Given the description of an element on the screen output the (x, y) to click on. 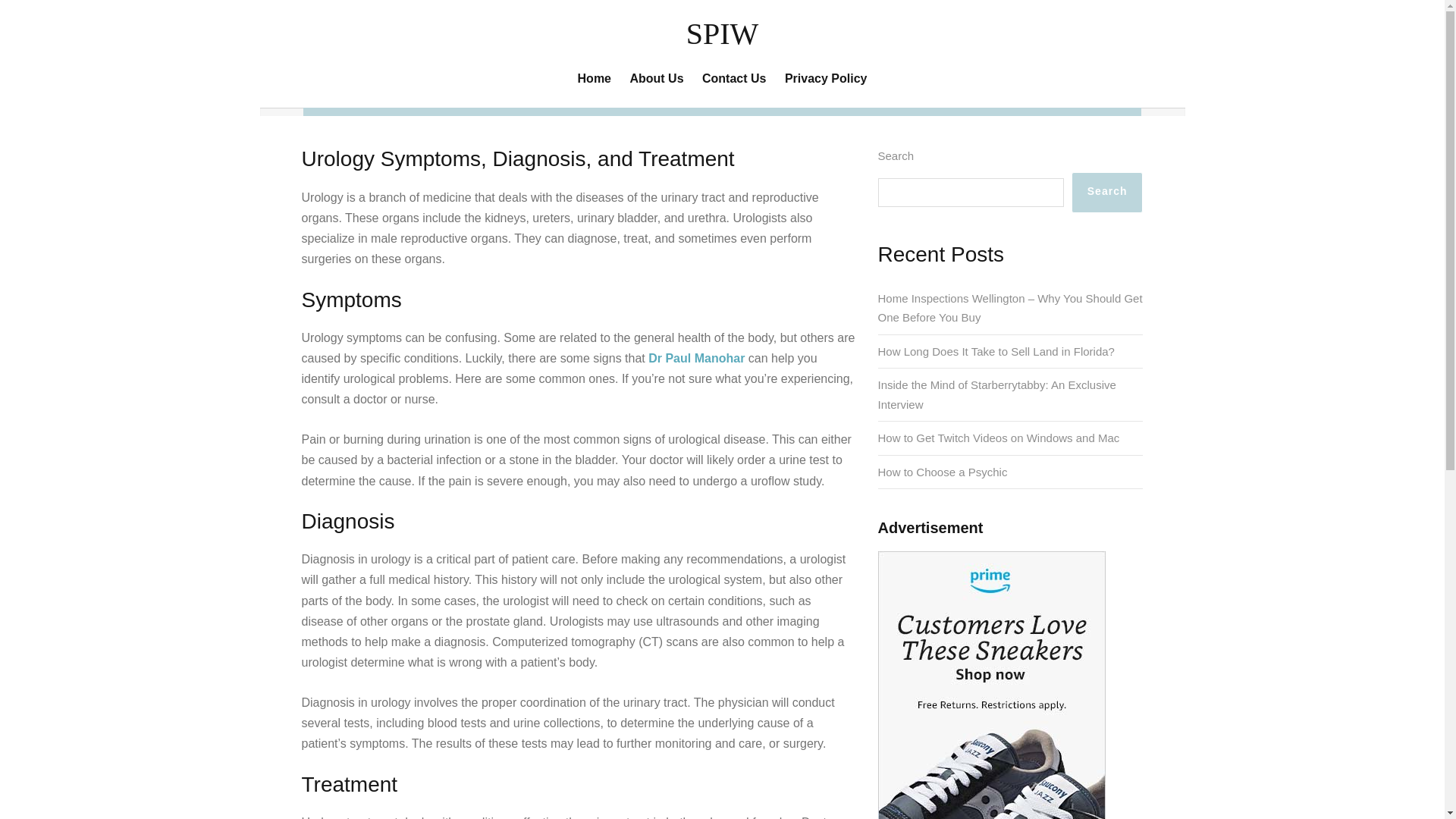
Dr Paul Manohar (695, 358)
How to Choose a Psychic (942, 472)
SPIW (721, 33)
How to Get Twitch Videos on Windows and Mac (998, 437)
How Long Does It Take to Sell Land in Florida? (996, 350)
Inside the Mind of Starberrytabby: An Exclusive Interview (996, 394)
About Us (656, 78)
Search (1106, 191)
Contact Us (734, 78)
Privacy Policy (825, 78)
